Given the description of an element on the screen output the (x, y) to click on. 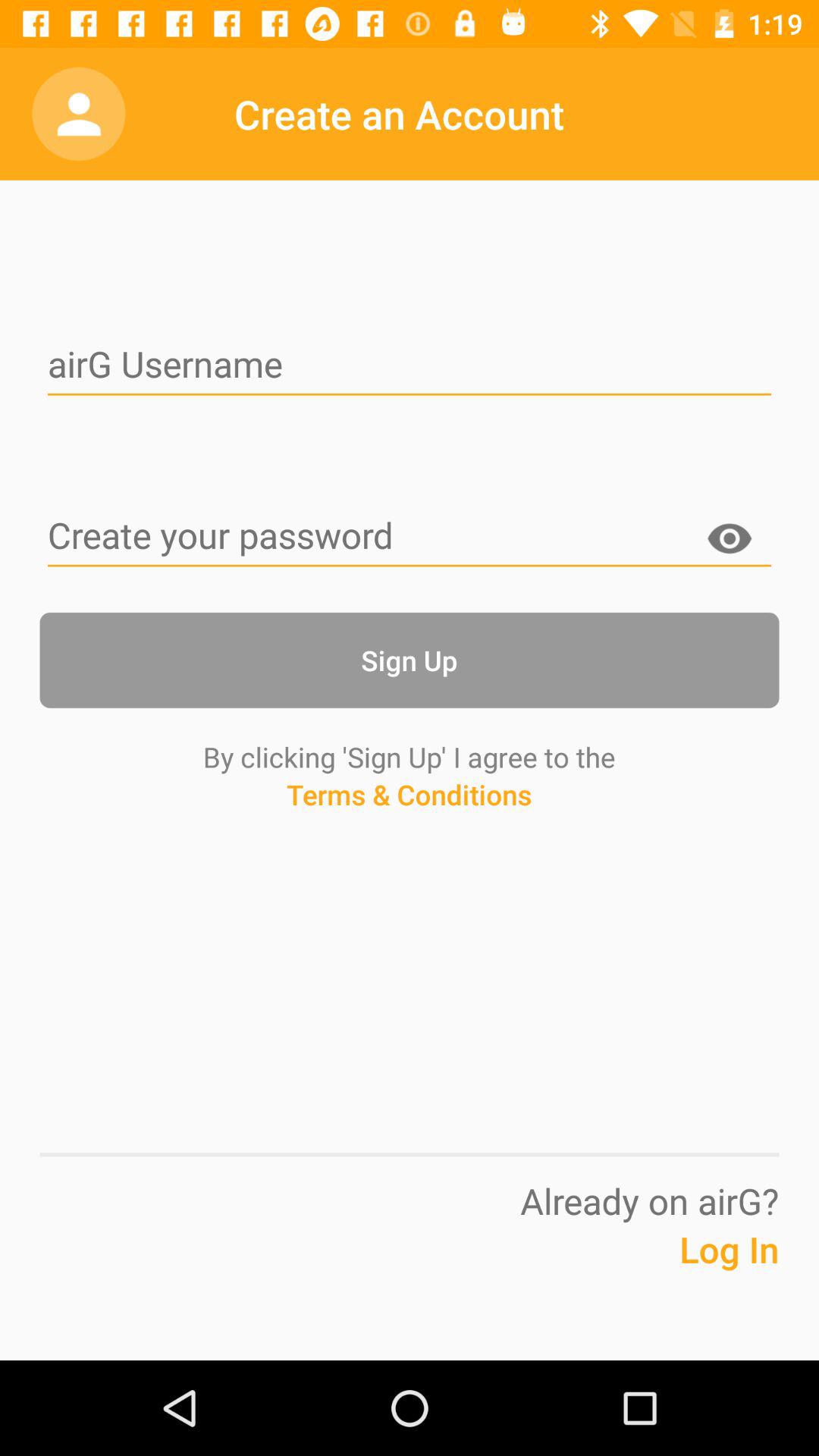
choose the terms & conditions icon (408, 823)
